Given the description of an element on the screen output the (x, y) to click on. 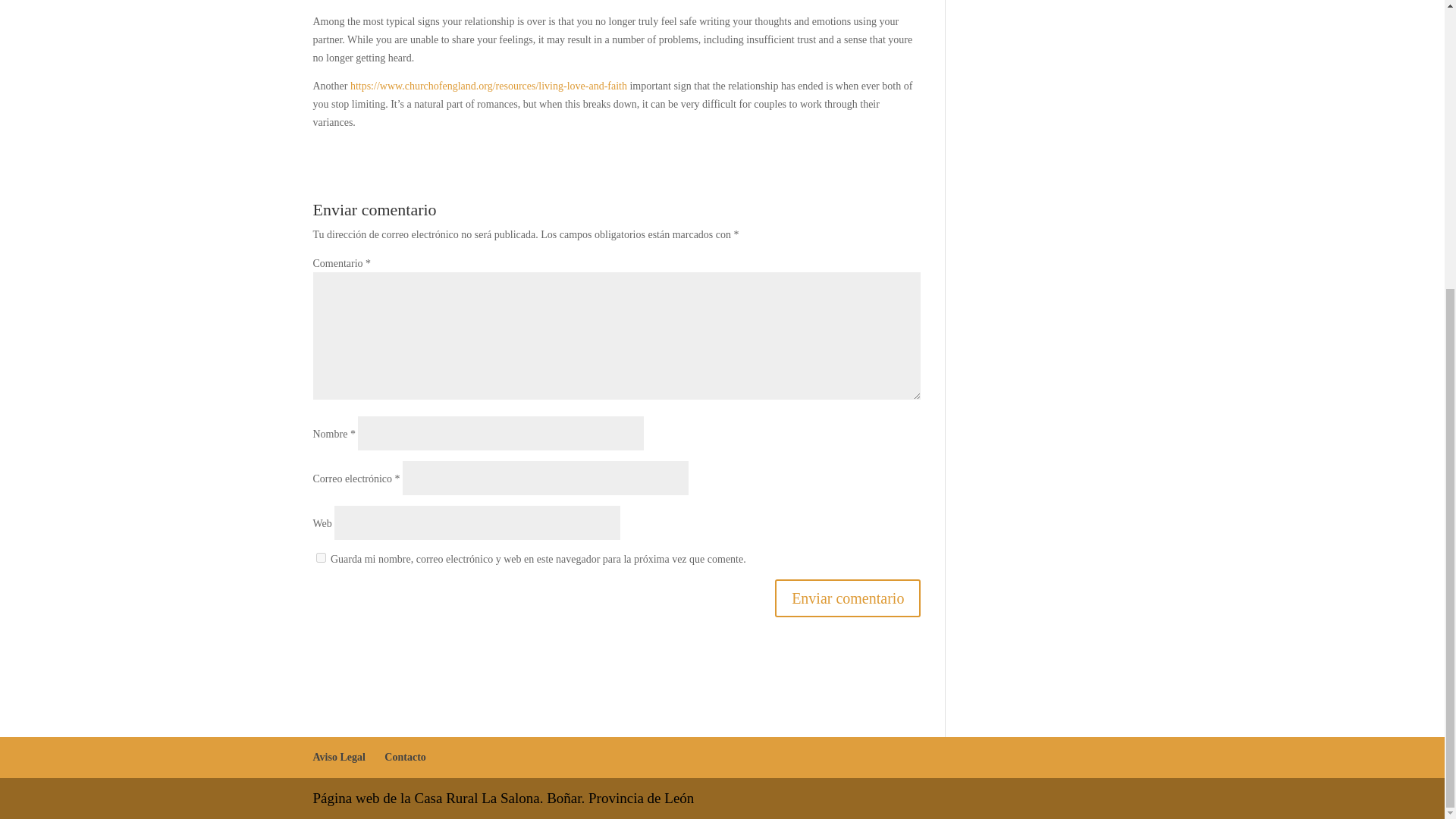
Aviso Legal (339, 756)
Contacto (404, 756)
yes (319, 557)
Enviar comentario (847, 598)
Enviar comentario (847, 598)
